Given the description of an element on the screen output the (x, y) to click on. 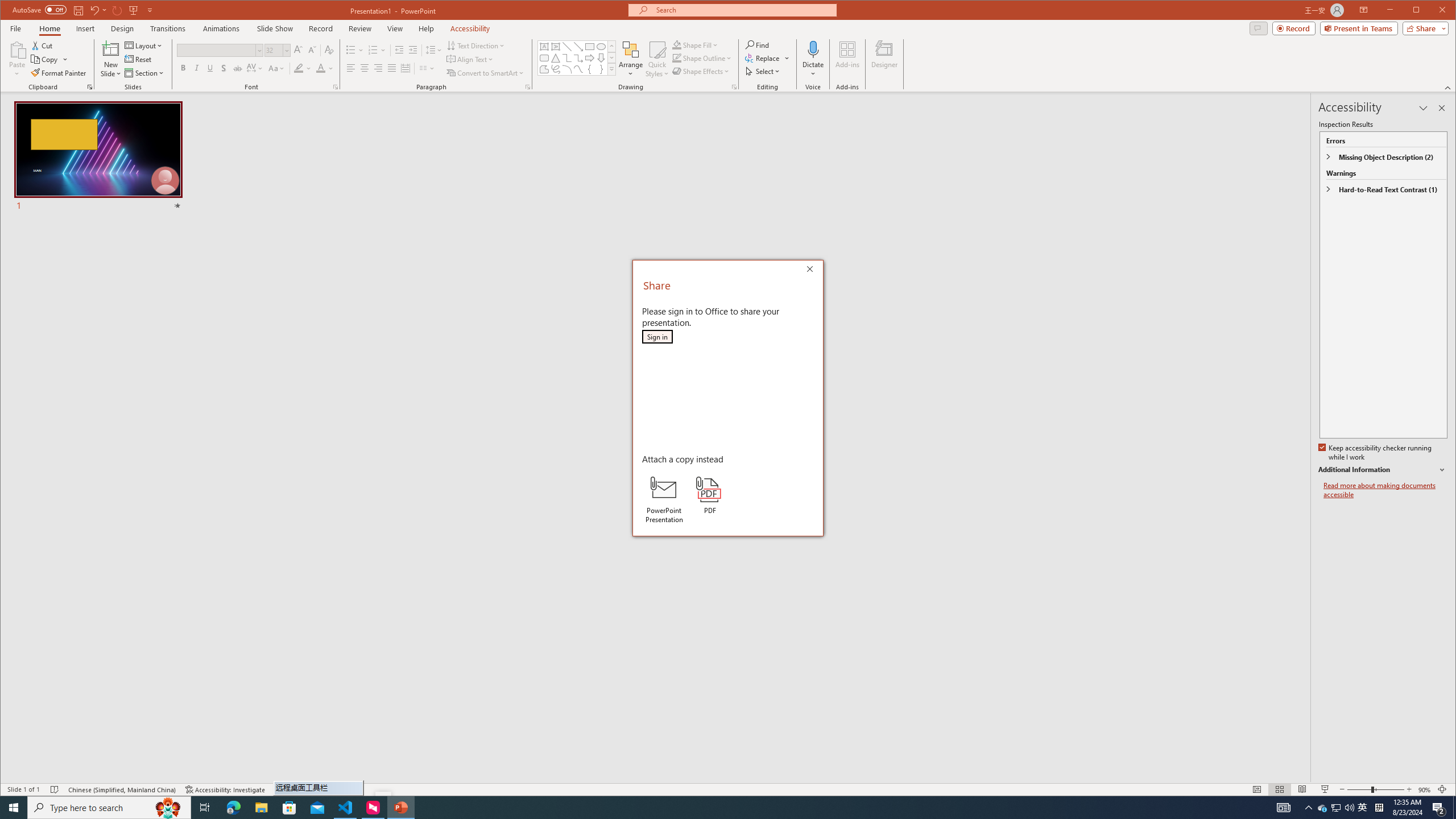
AutomationID: 4105 (1283, 807)
Align Right (377, 68)
Underline (209, 68)
Columns (426, 68)
Bold (182, 68)
Quick Styles (658, 59)
Align Left (350, 68)
AutomationID: ShapesInsertGallery (577, 57)
Running applications (700, 807)
Increase Indent (412, 49)
Shape Fill Orange, Accent 2 (676, 44)
